Given the description of an element on the screen output the (x, y) to click on. 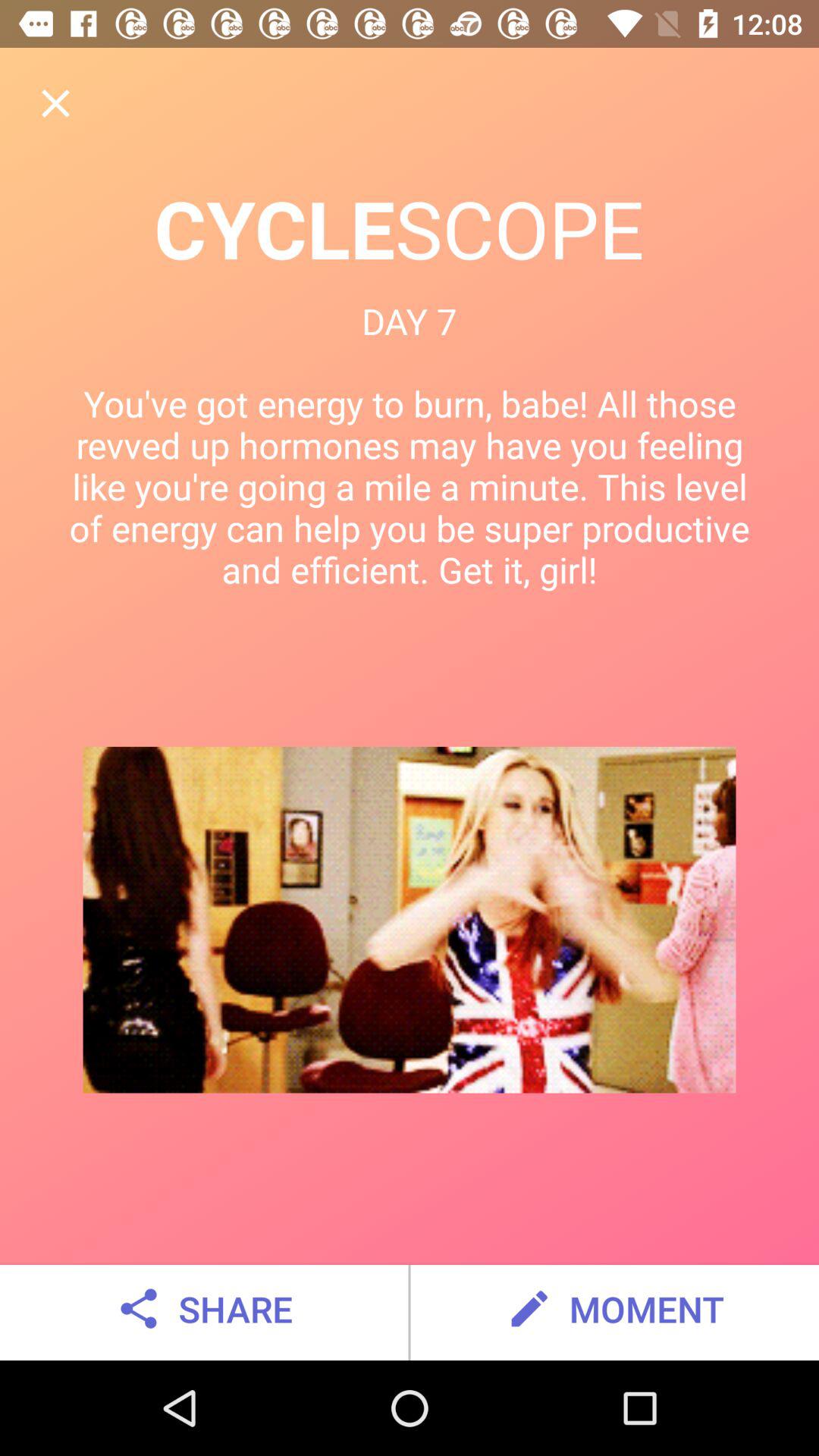
press the moment icon (614, 1308)
